Given the description of an element on the screen output the (x, y) to click on. 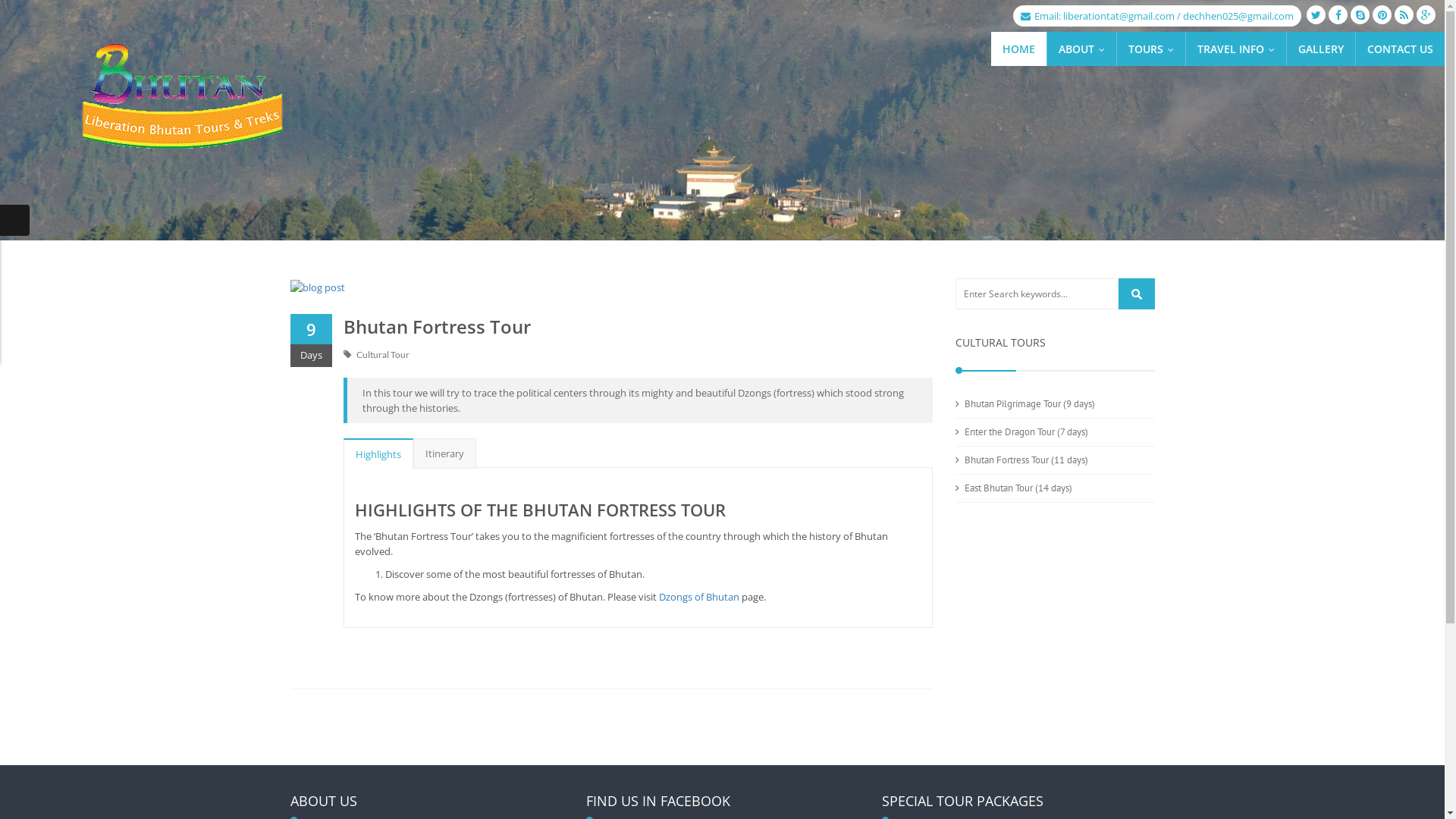
Cultural Tour Element type: text (382, 354)
East Bhutan Tour (14 days) Element type: text (1018, 487)
HOME Element type: text (1018, 48)
Bhutan Fortress Tour Element type: text (436, 325)
CONTACT US Element type: text (1399, 48)
Search Element type: text (1136, 293)
Bhutan Fortress Tour (11 days) Element type: text (1026, 459)
TRAVEL INFO... Element type: text (1236, 48)
GALLERY Element type: text (1320, 48)
ABOUT... Element type: text (1081, 48)
TOURS... Element type: text (1151, 48)
Itinerary Element type: text (443, 453)
Dzongs of Bhutan Element type: text (698, 596)
Bhutan Pilgrimage Tour (9 days) Element type: text (1029, 403)
Enter the Dragon Tour (7 days) Element type: text (1026, 431)
Highlights Element type: text (377, 454)
